Given the description of an element on the screen output the (x, y) to click on. 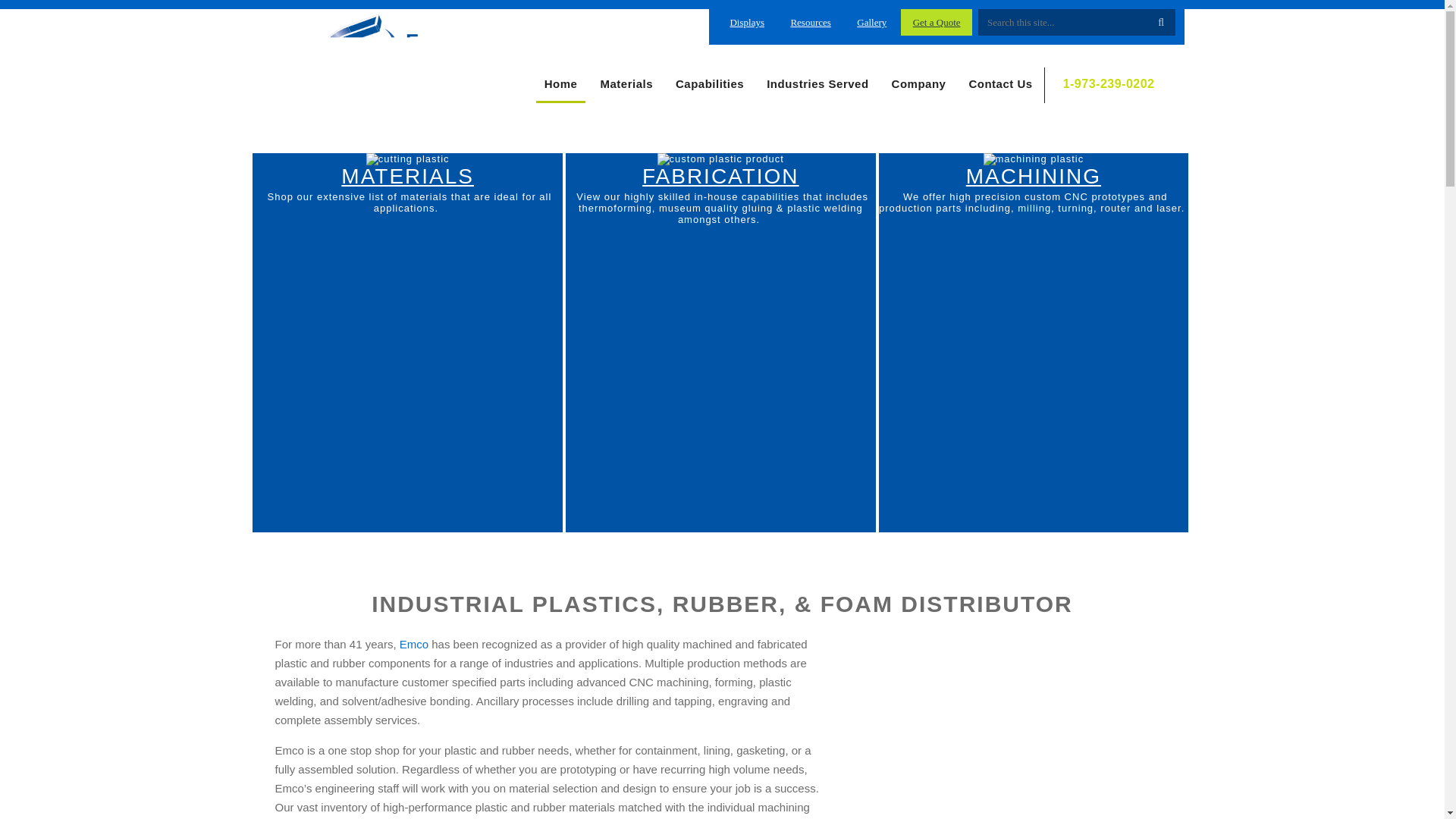
Capabilities (709, 85)
YouTube video player (1002, 714)
Materials (626, 85)
Industries Served (817, 85)
Home (560, 85)
